Given the description of an element on the screen output the (x, y) to click on. 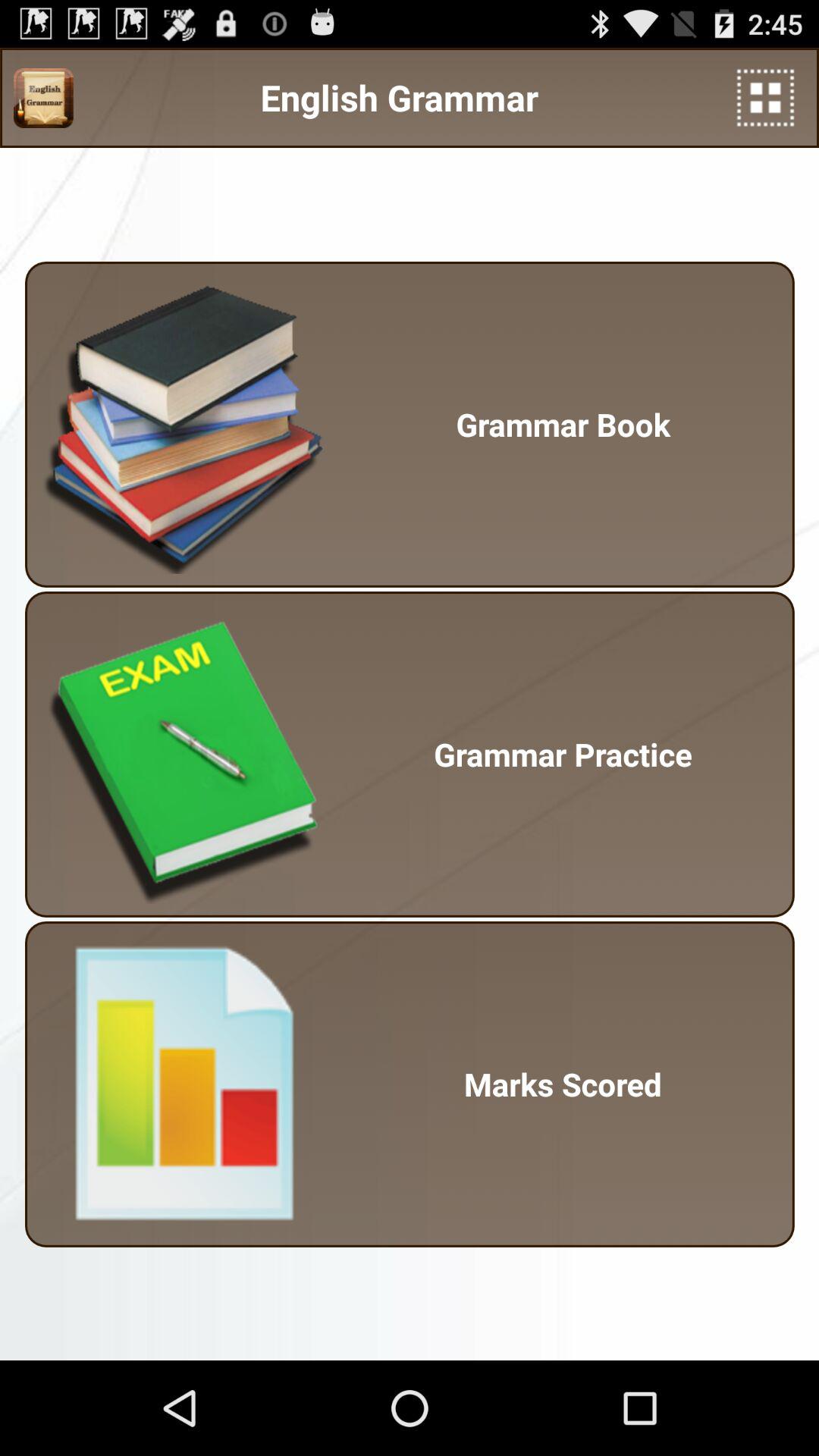
change list mode (765, 97)
